Given the description of an element on the screen output the (x, y) to click on. 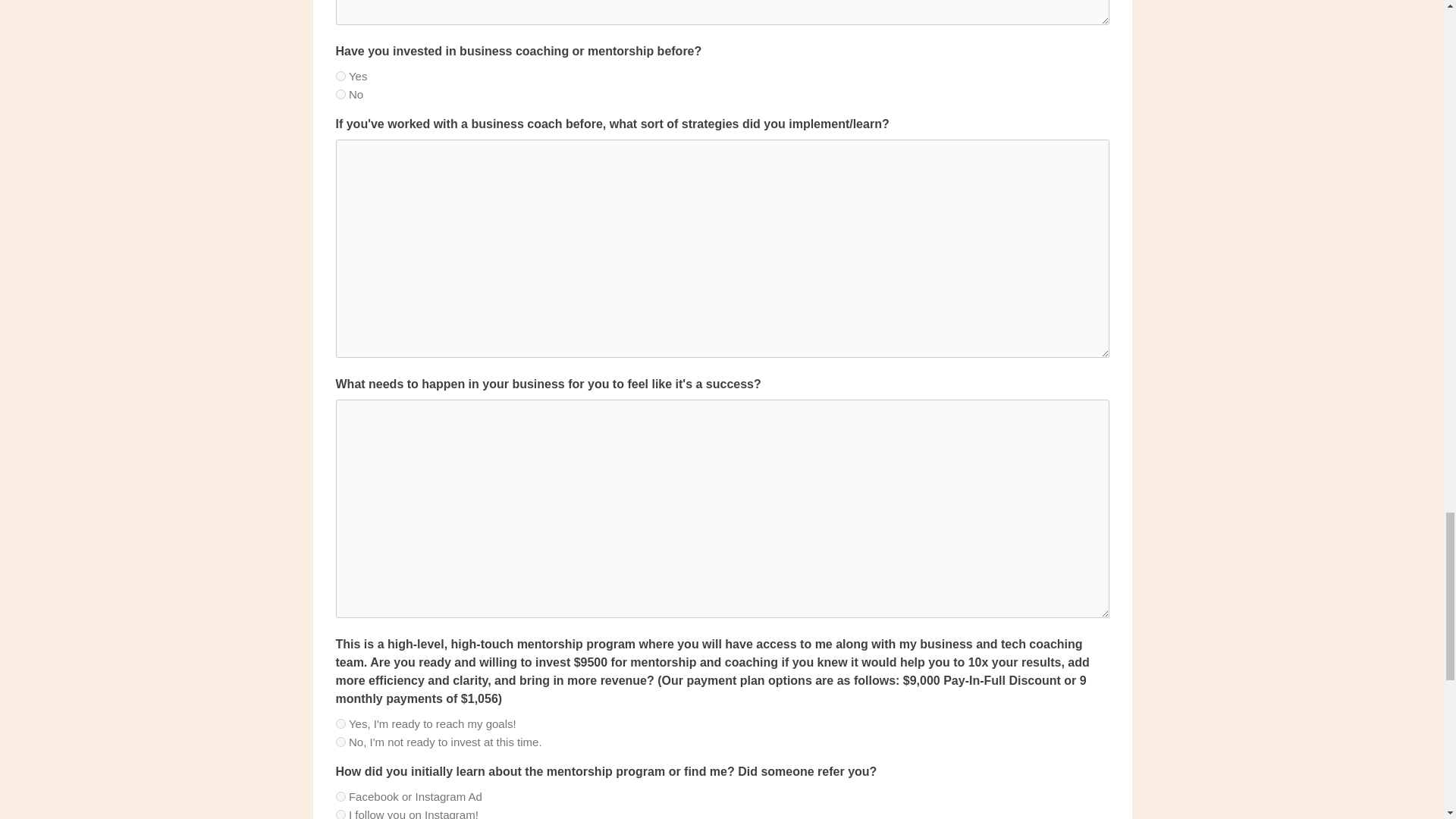
No (339, 94)
Yes, I'm ready to reach my goals! (339, 723)
Yes (339, 76)
Facebook or Instagram Ad (339, 796)
I follow you on Instagram! (339, 814)
No, I'm not ready to invest at this time. (339, 741)
